Given the description of an element on the screen output the (x, y) to click on. 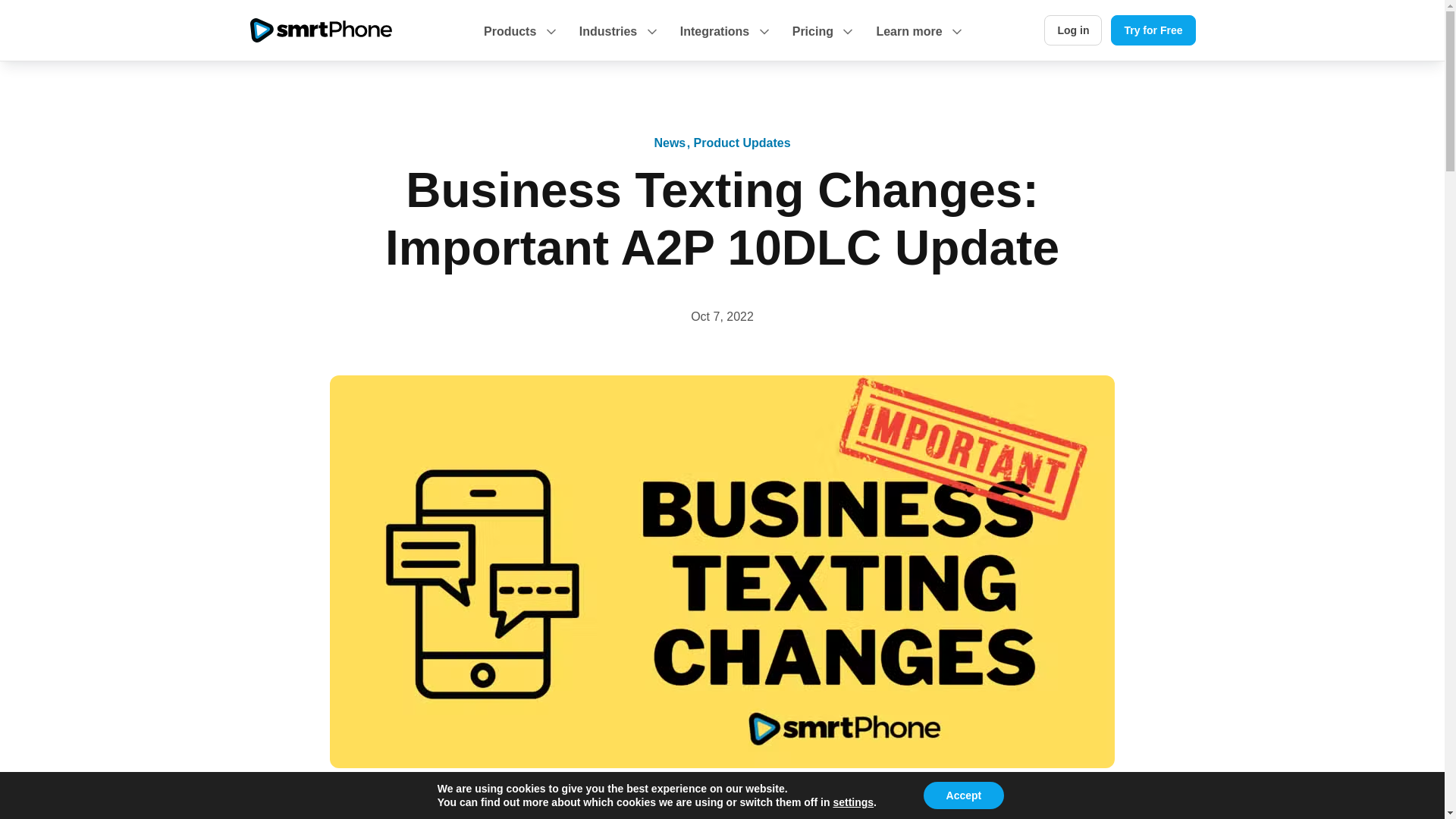
Try for Free (1152, 30)
Learn more (918, 41)
Integrations (723, 41)
Industries (617, 41)
Pricing (821, 41)
Log in (1072, 30)
Products (518, 41)
